Given the description of an element on the screen output the (x, y) to click on. 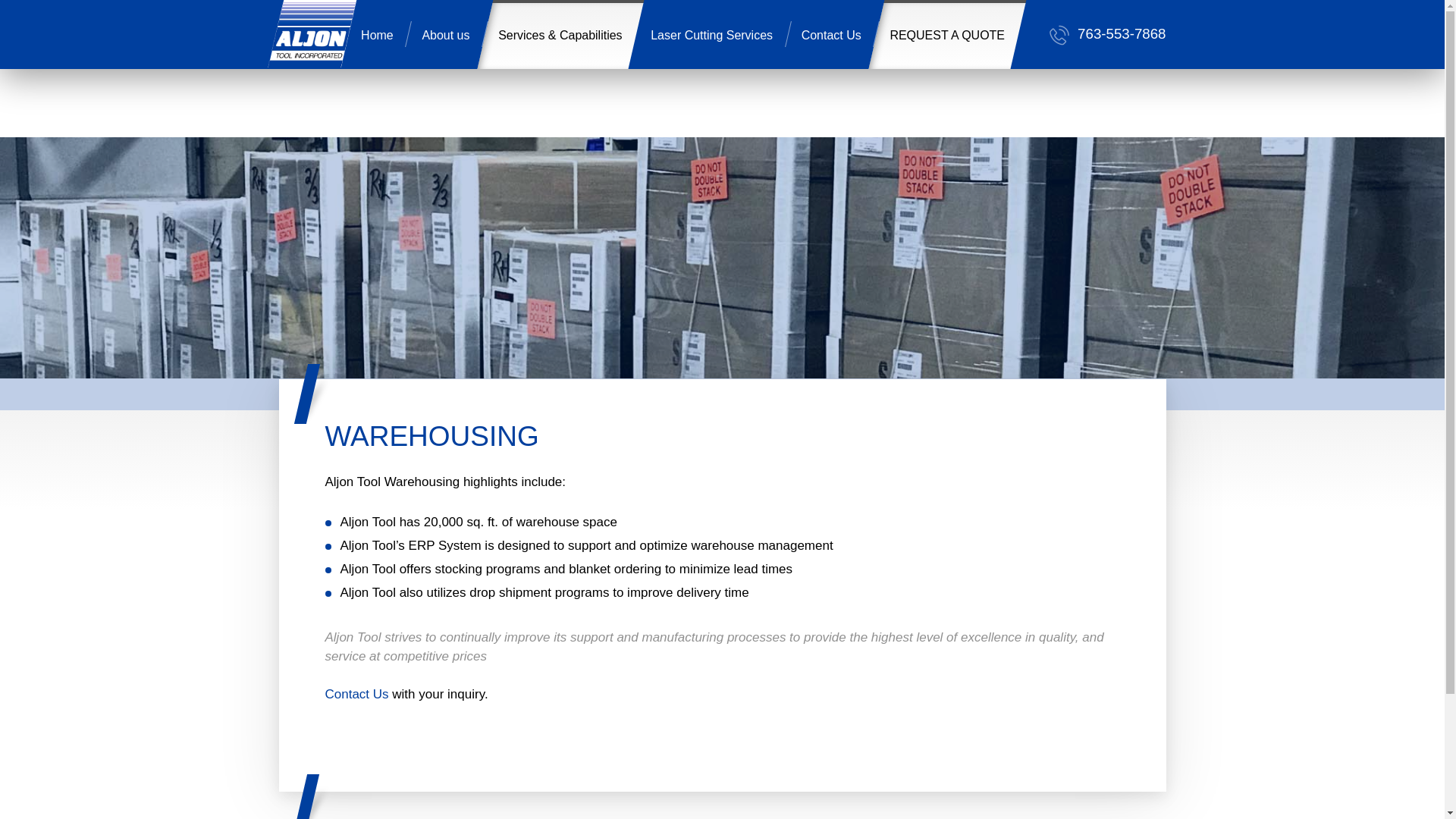
REQUEST A QUOTE (946, 34)
Laser Cutting Services (711, 34)
About us (446, 34)
Contact Us (831, 34)
763-553-7868 (1107, 34)
Contact Us (356, 694)
